Given the description of an element on the screen output the (x, y) to click on. 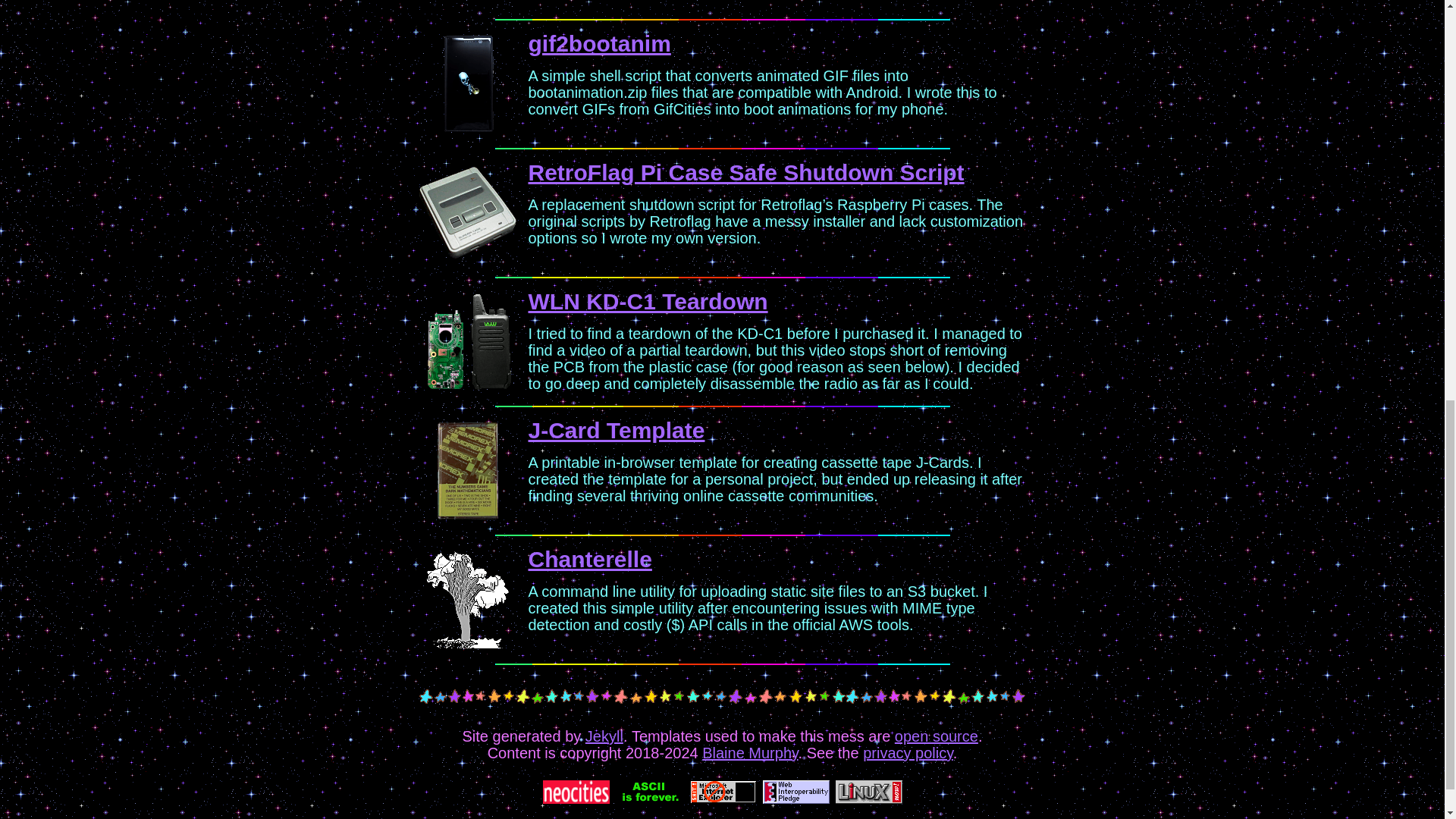
Jekyll (604, 736)
J-Card Template (615, 430)
gif2bootanim (598, 43)
Chanterelle (588, 559)
